Given the description of an element on the screen output the (x, y) to click on. 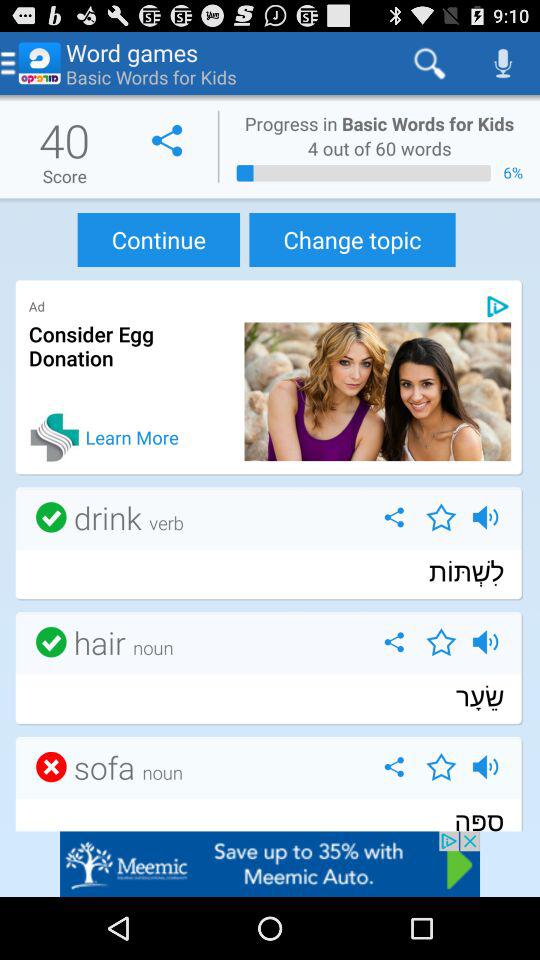
pick playstore (497, 306)
